Given the description of an element on the screen output the (x, y) to click on. 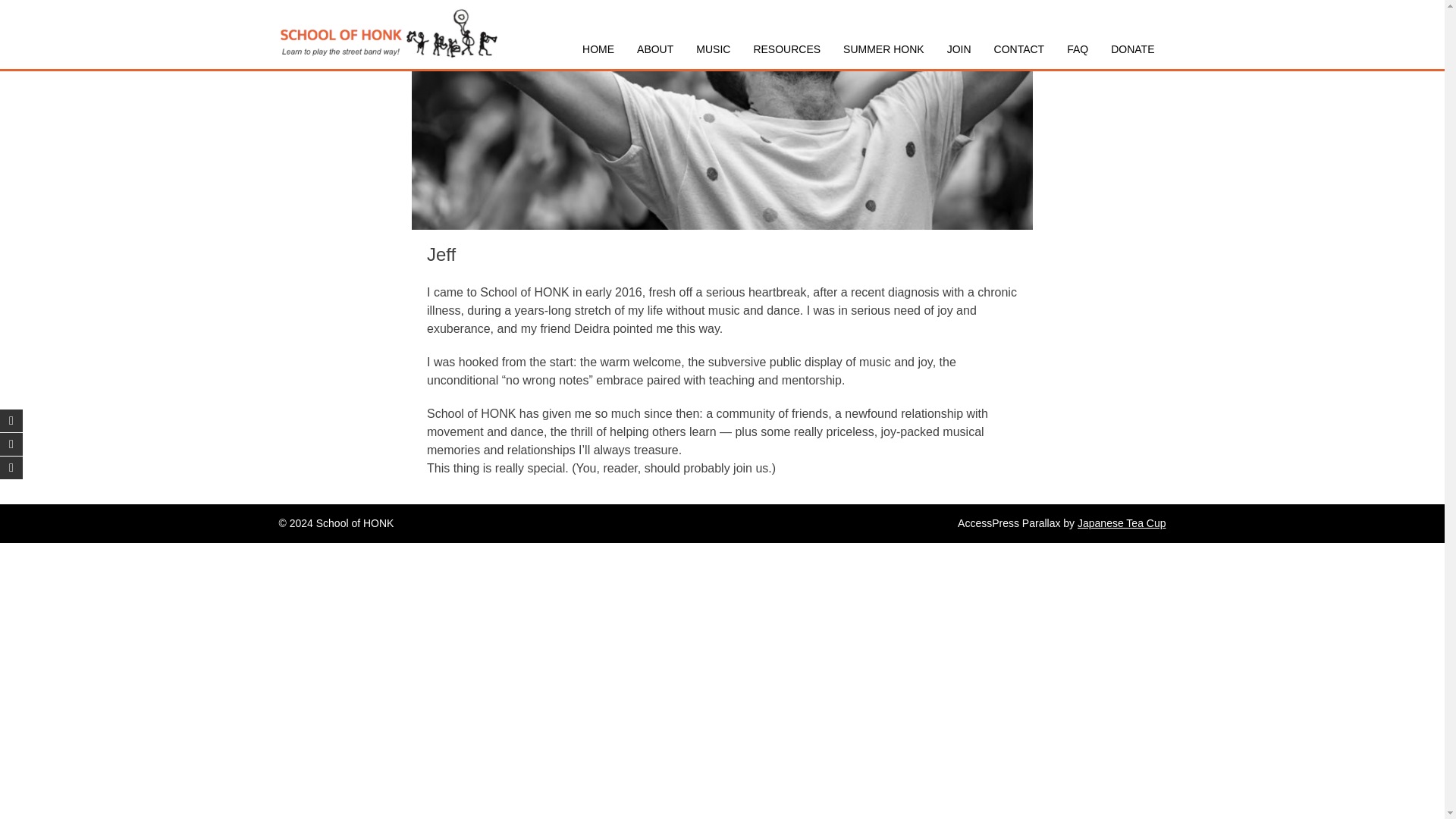
Japanese Tea Cup (1121, 522)
SUMMER HONK (883, 49)
CONTACT (1019, 49)
RESOURCES (786, 49)
DONATE (1132, 49)
HOME (598, 49)
FAQ (1077, 49)
MUSIC (712, 49)
Japanese Tea Cup (1121, 522)
ABOUT (655, 49)
